Given the description of an element on the screen output the (x, y) to click on. 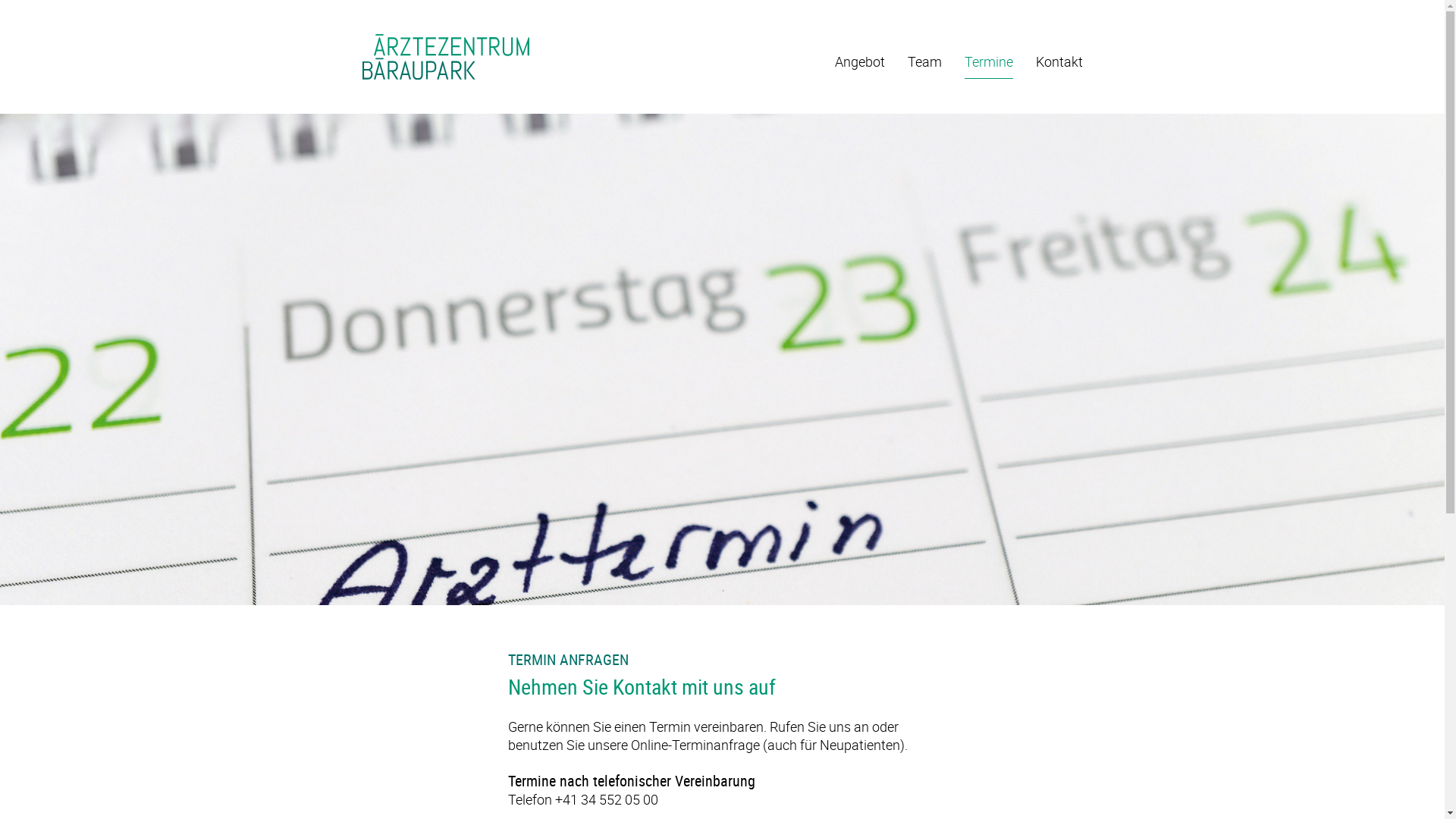
Termine Element type: text (988, 65)
Angebot Element type: text (859, 65)
  Element type: text (447, 58)
Kontakt Element type: text (1058, 65)
Team Element type: text (923, 65)
